Given the description of an element on the screen output the (x, y) to click on. 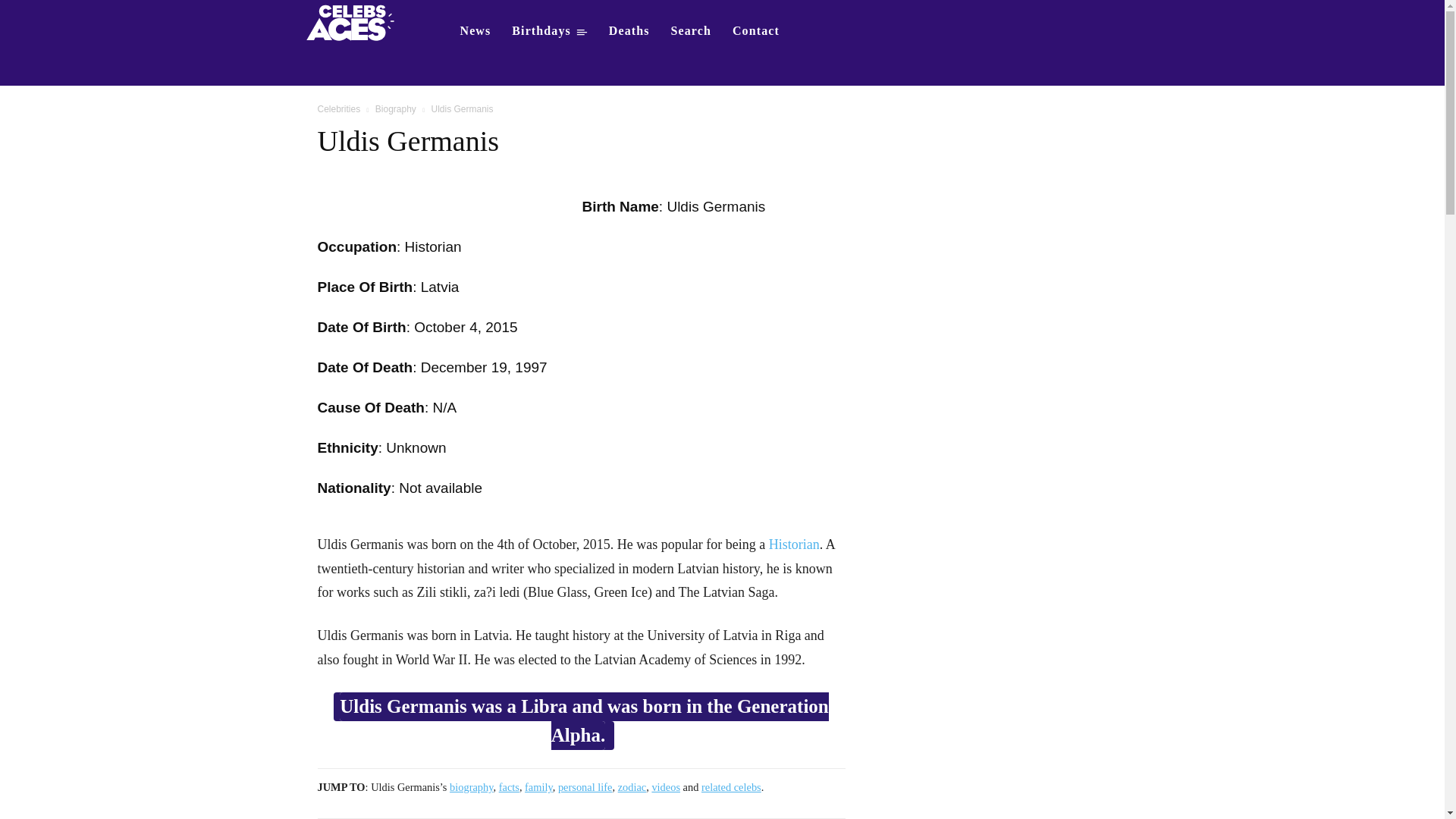
related celebs (731, 787)
Biography (395, 109)
zodiac (631, 787)
News (474, 31)
Who is dating who (354, 21)
videos (664, 787)
personal life (584, 787)
October (439, 326)
family (538, 787)
facts (509, 787)
